Given the description of an element on the screen output the (x, y) to click on. 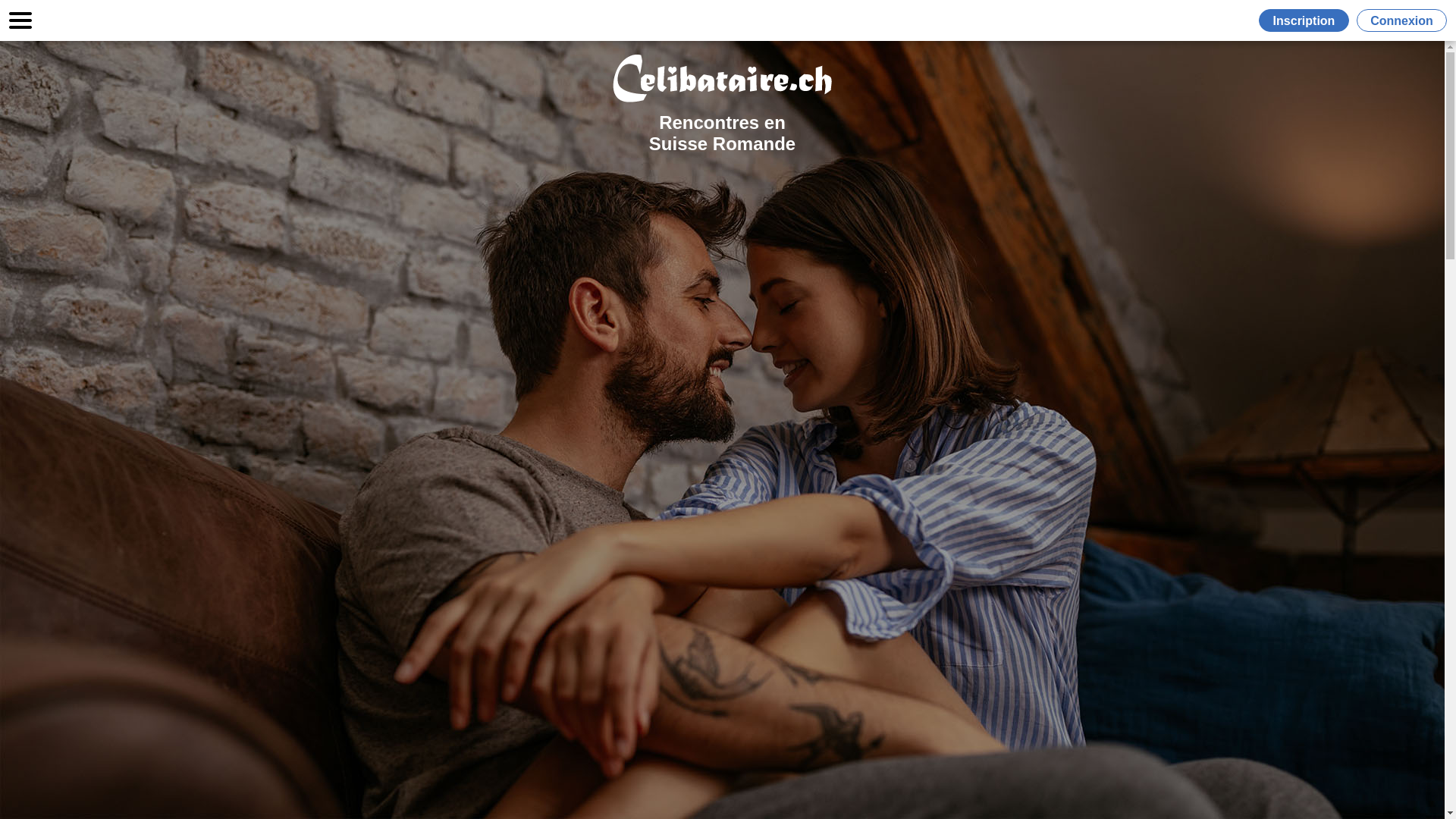
Inscription Element type: text (1307, 20)
Connexion Element type: text (1401, 20)
